Given the description of an element on the screen output the (x, y) to click on. 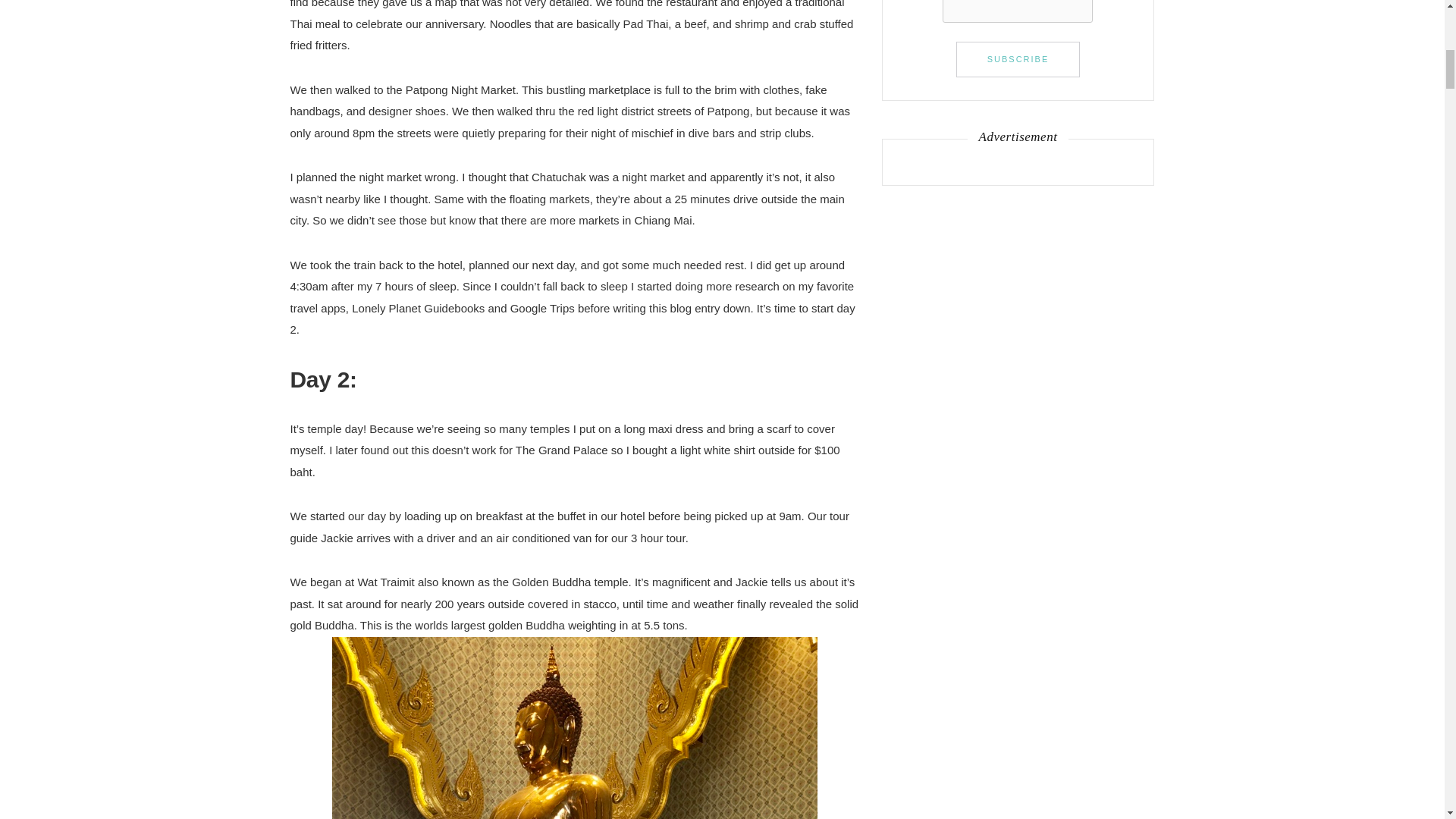
Subscribe (1018, 58)
